Given the description of an element on the screen output the (x, y) to click on. 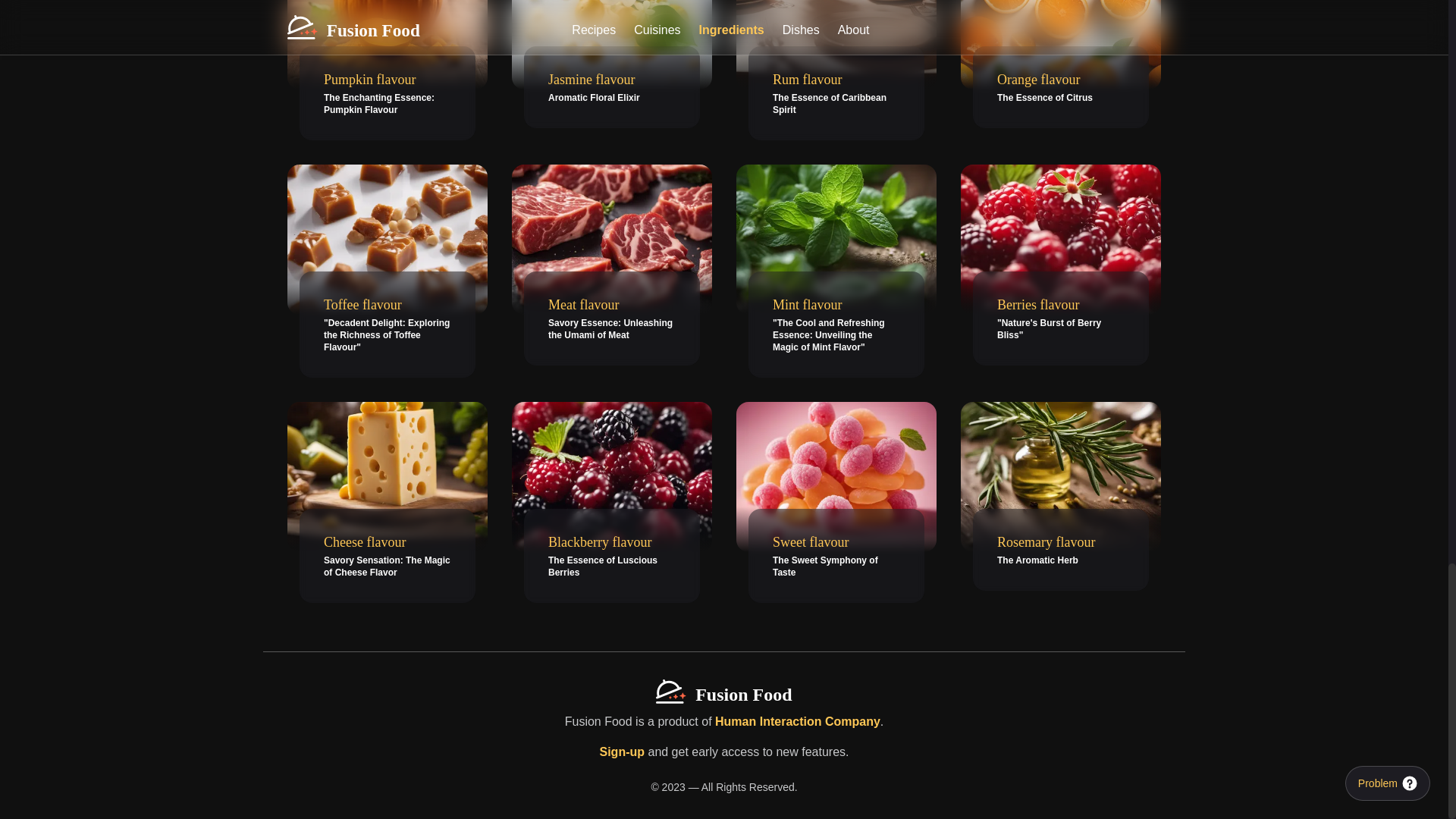
Sign-up (611, 318)
Fusion Food (836, 555)
